Given the description of an element on the screen output the (x, y) to click on. 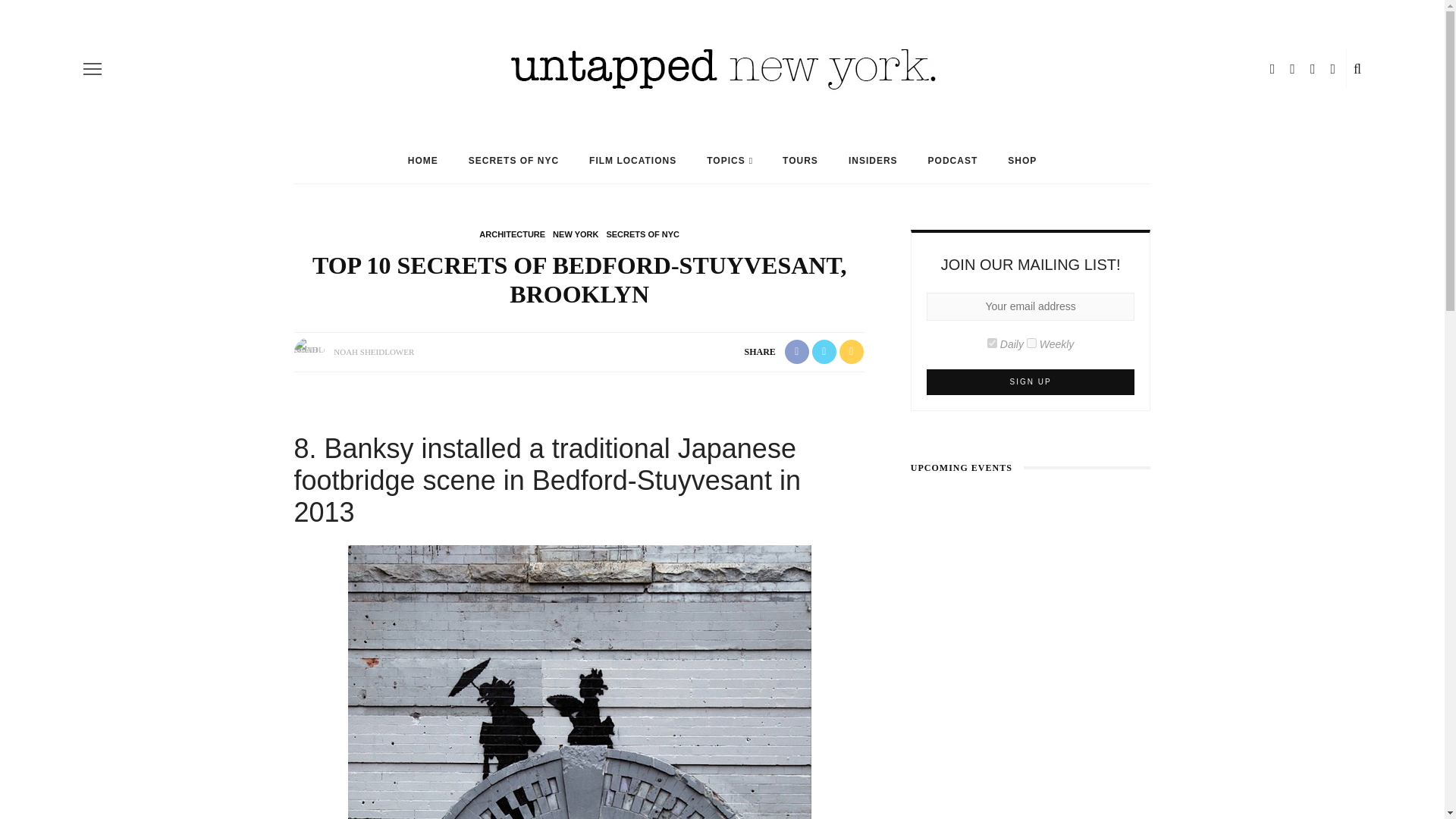
7cff6a70fd (1031, 343)
Sign up (1030, 381)
off canvas button (91, 68)
e99a09560c (992, 343)
Post by Noah Sheidlower (373, 351)
